Given the description of an element on the screen output the (x, y) to click on. 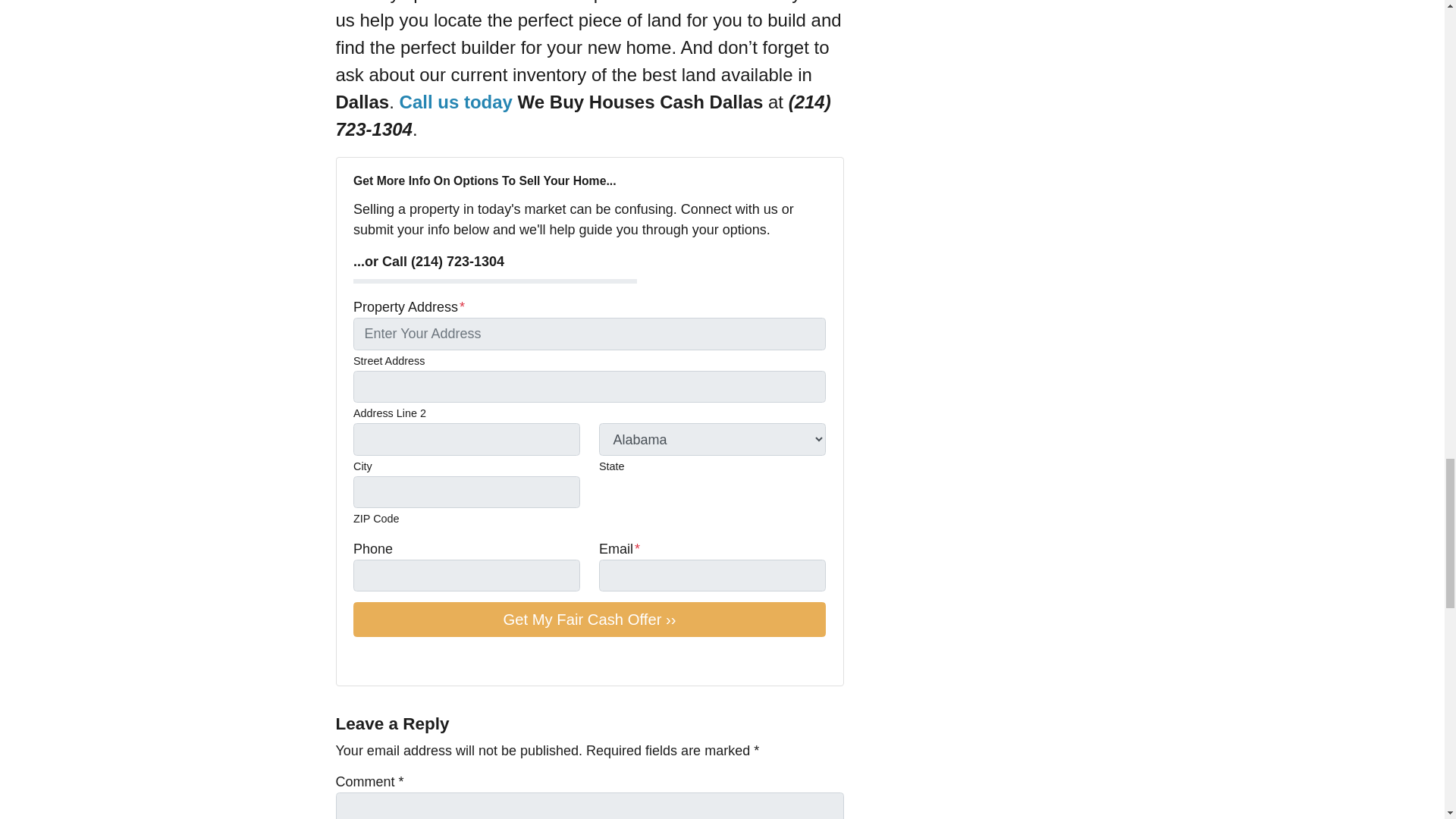
YouTube (404, 659)
Pinterest (468, 659)
Twitter (362, 659)
Instagram (447, 659)
Call us today (455, 101)
Facebook (383, 659)
LinkedIn (425, 659)
